Given the description of an element on the screen output the (x, y) to click on. 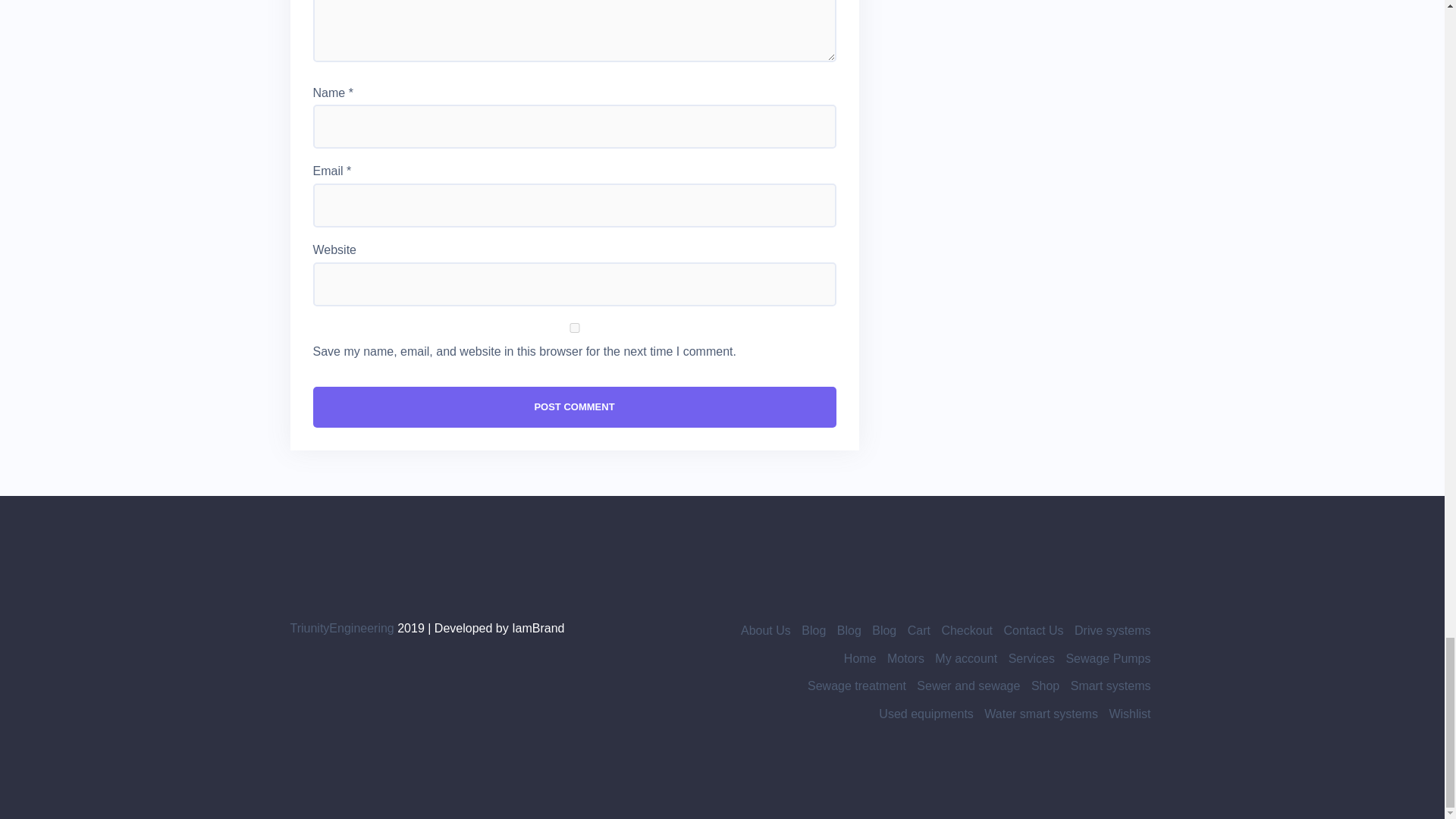
yes (574, 327)
Smart systems (1110, 685)
Home (860, 658)
Services (1031, 658)
About Us (765, 630)
Cart (918, 630)
Blog (849, 630)
Sewage Pumps (1107, 658)
Motors (905, 658)
Contact Us (1032, 630)
Blog (813, 630)
Blog (884, 630)
Drive systems (1112, 630)
Used equipments (926, 713)
TriunityEngineering (341, 627)
